Given the description of an element on the screen output the (x, y) to click on. 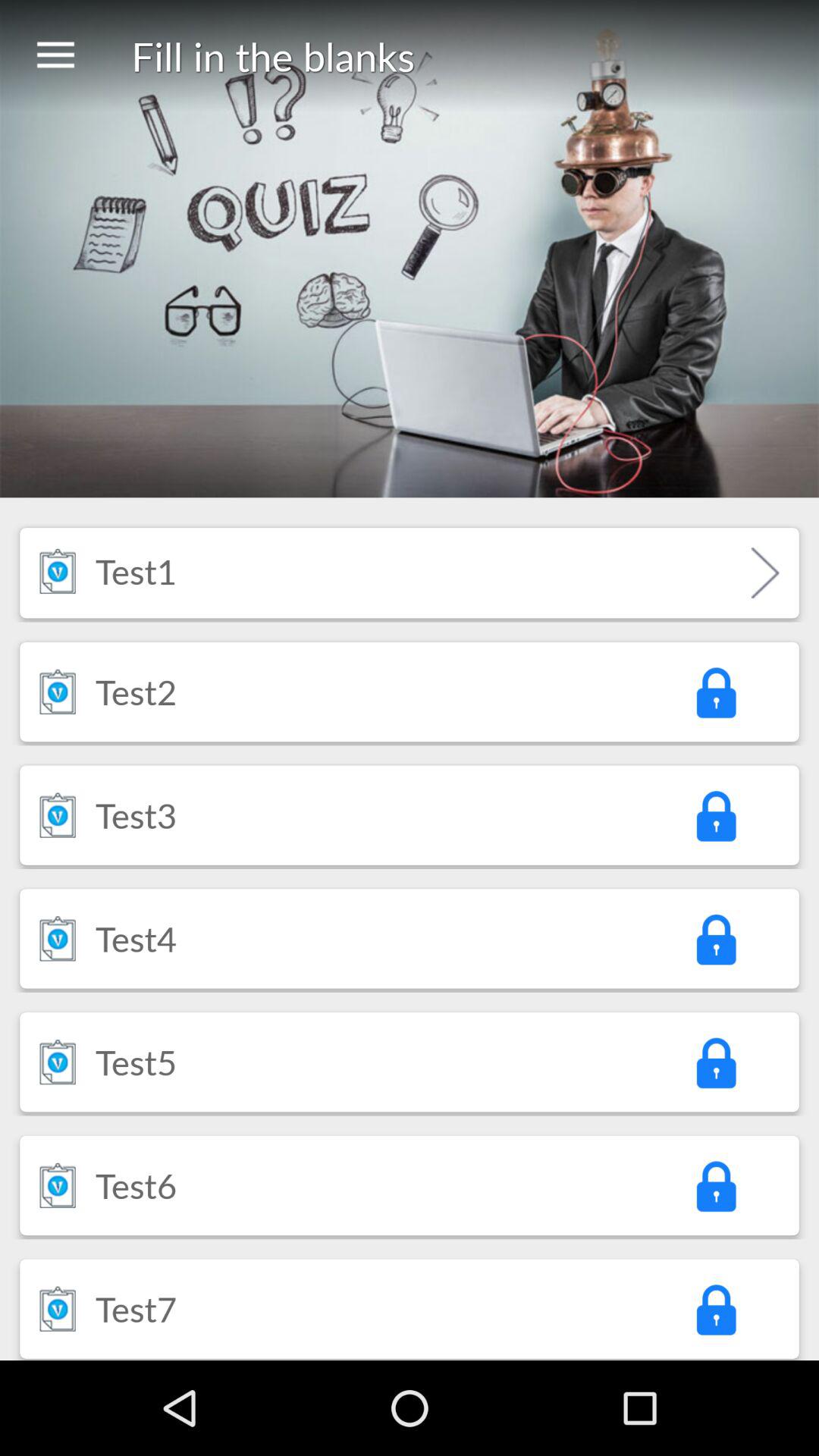
open the item to the left of the test6 icon (57, 1184)
